Given the description of an element on the screen output the (x, y) to click on. 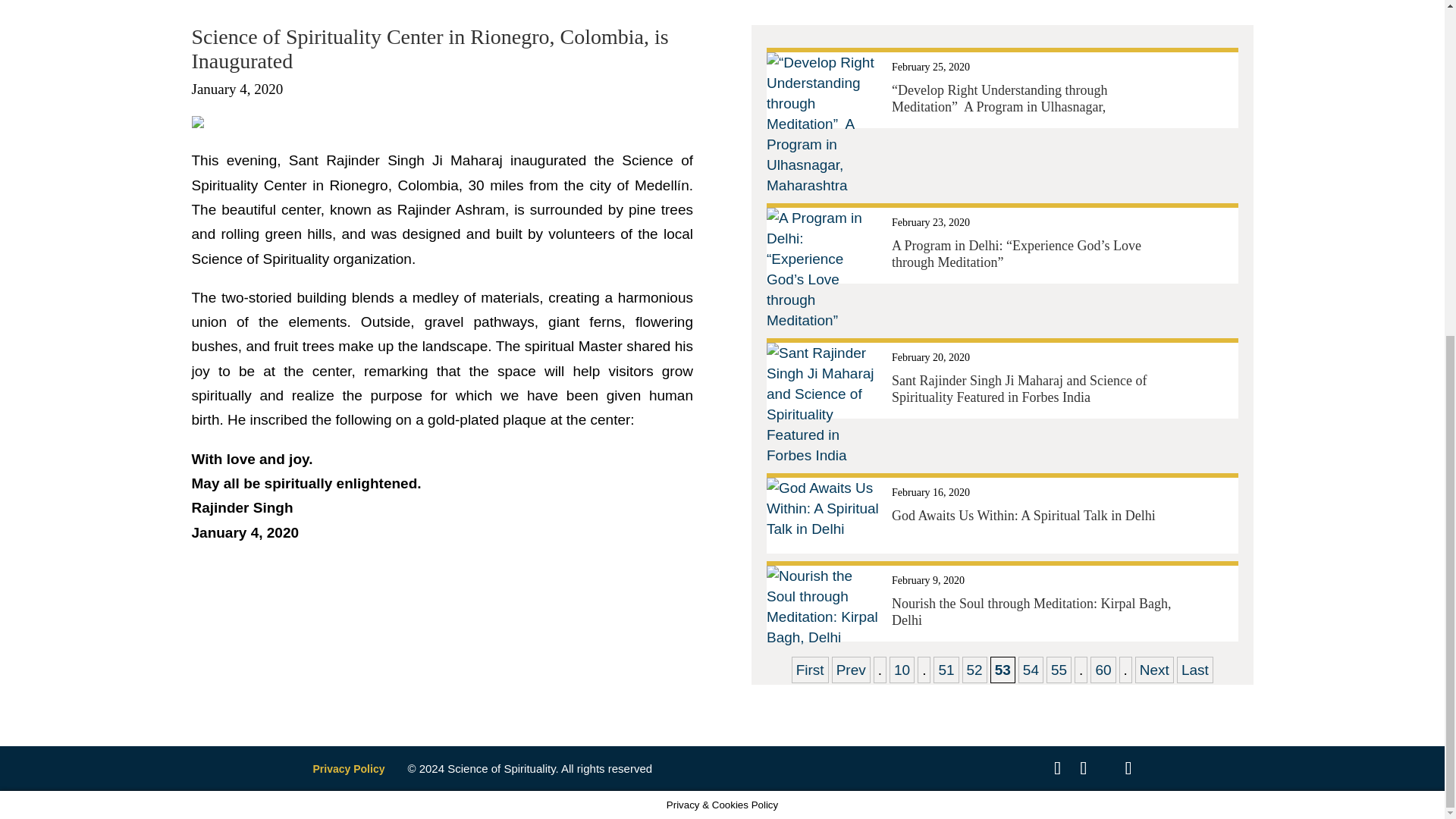
Page 52 (974, 669)
Page 54 (1030, 669)
Page 60 (1102, 669)
Page 10 (901, 669)
Page 51 (945, 669)
Page 55 (1058, 669)
